Given the description of an element on the screen output the (x, y) to click on. 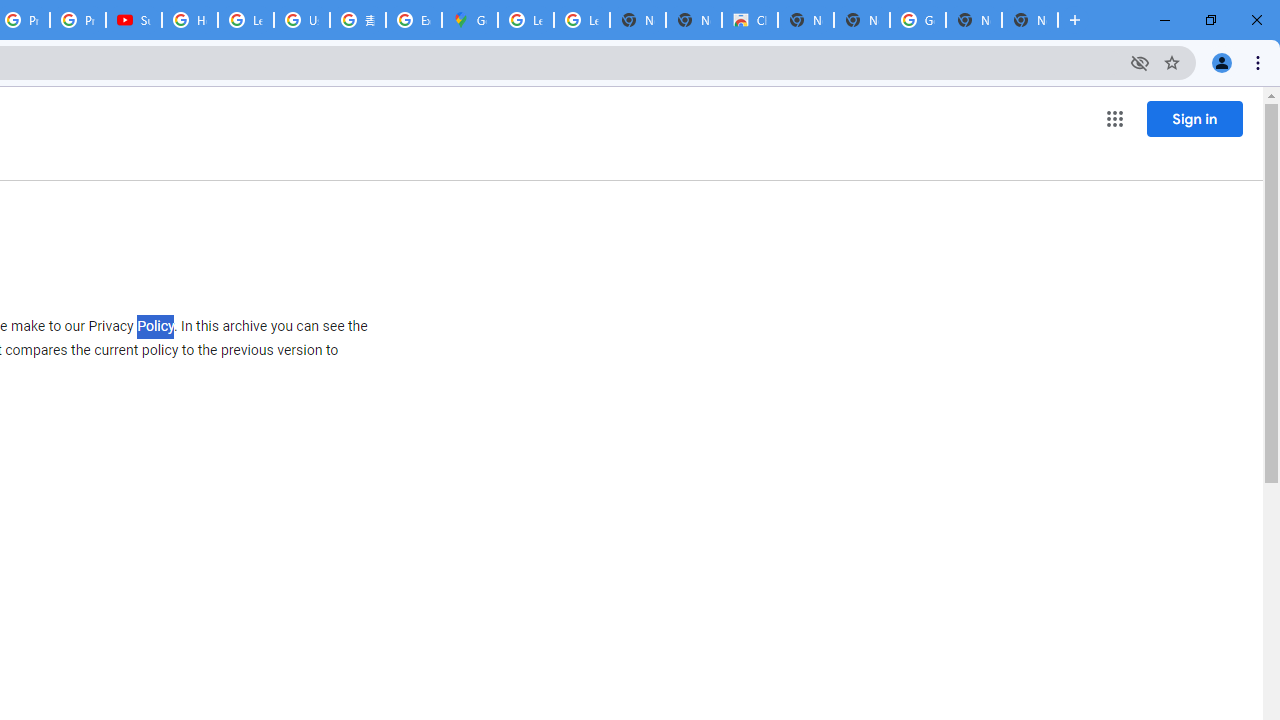
Google Images (917, 20)
New Tab (1030, 20)
Subscriptions - YouTube (134, 20)
Chrome Web Store (749, 20)
Google Maps (469, 20)
Explore new street-level details - Google Maps Help (413, 20)
